Given the description of an element on the screen output the (x, y) to click on. 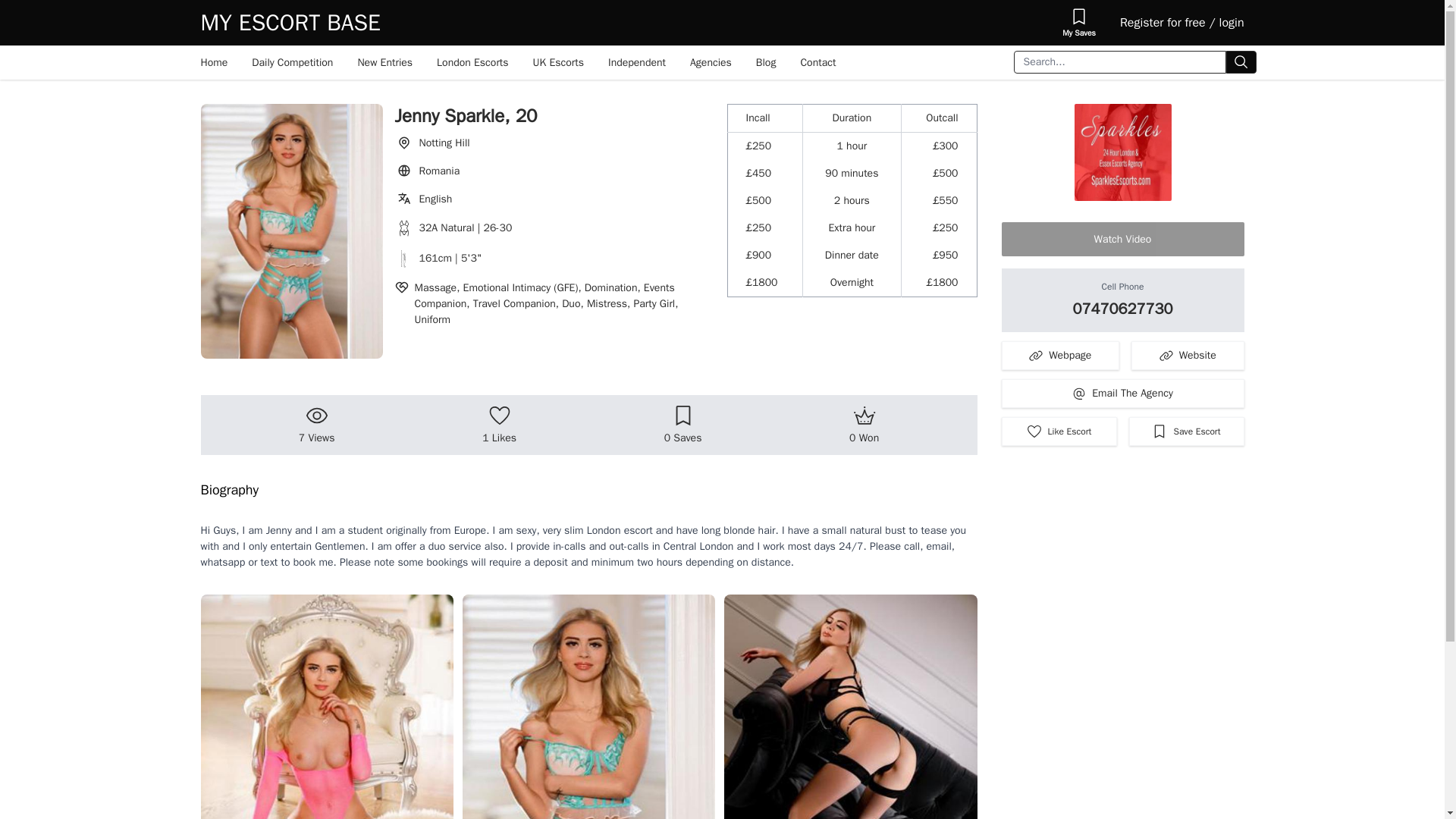
Location (554, 142)
London Escorts (473, 62)
Uniform (431, 318)
Massage (438, 287)
MY ESCORT BASE (290, 22)
Agencies (711, 62)
Party Girl (655, 303)
Blog (766, 62)
Travel Companion (517, 303)
Contact (817, 62)
